Given the description of an element on the screen output the (x, y) to click on. 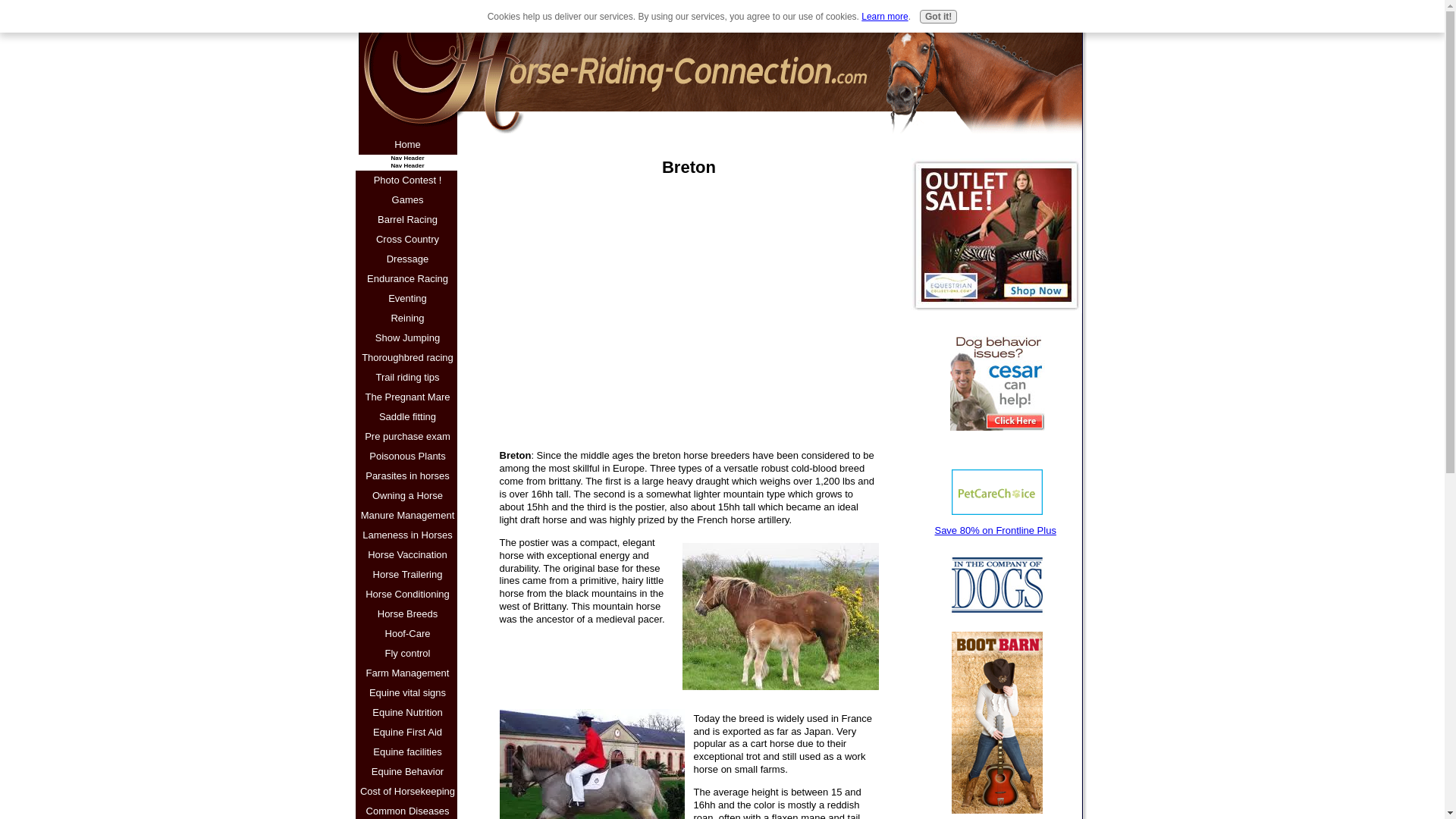
Horse Vaccination (407, 555)
Thoroughbred racing (407, 357)
Poisonous Plants (407, 456)
Fly control (407, 653)
Horse Trailering (407, 574)
Games (407, 199)
Lameness in Horses (407, 535)
Trail riding tips (407, 377)
Equine First Aid (407, 732)
Pre purchase exam (407, 436)
Cost of Horsekeeping (407, 791)
Manure Management (407, 515)
Barrel Racing (407, 219)
Cross Country (407, 239)
The Pregnant Mare (407, 397)
